Given the description of an element on the screen output the (x, y) to click on. 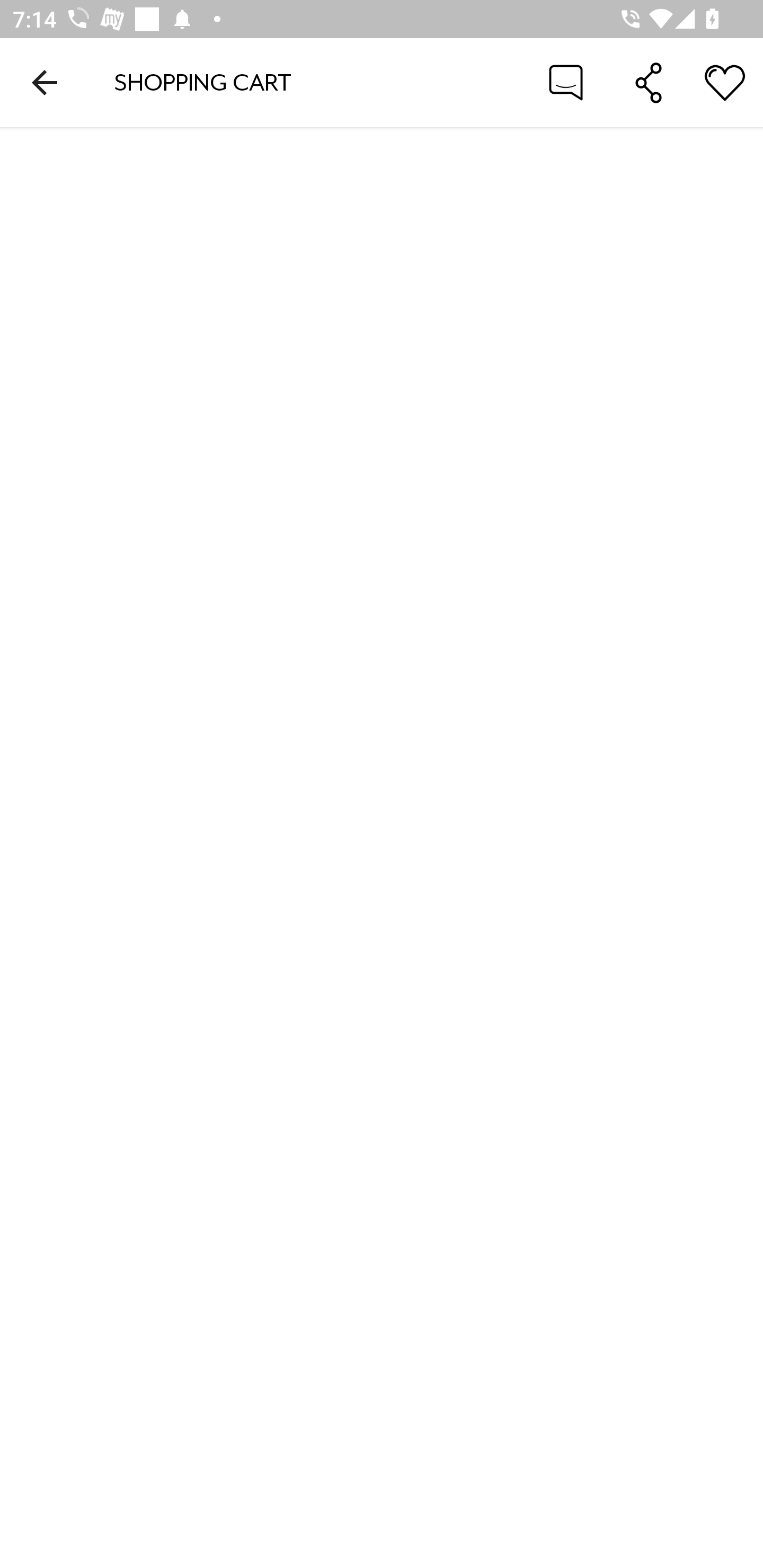
Navigate up (44, 82)
Chat (565, 81)
Share Cart (648, 81)
Wishlist (724, 81)
